Given the description of an element on the screen output the (x, y) to click on. 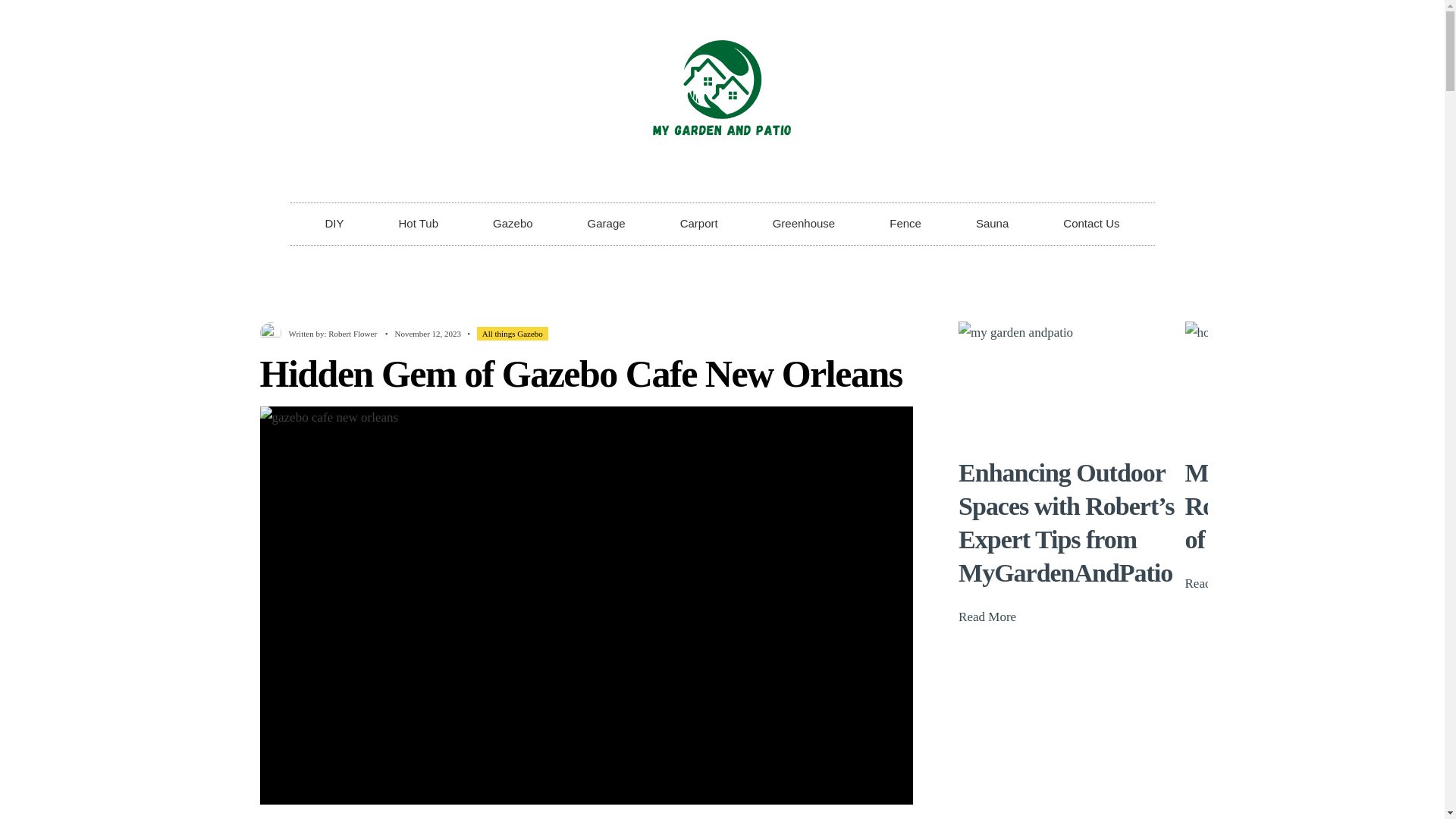
Sauna (992, 223)
Mygardenandpatio Robert: The Secrets of a Lush Backyard (1287, 506)
Carport (698, 223)
All things Gazebo (512, 333)
Contact Us (1091, 223)
Read More (987, 616)
Fence (905, 223)
DIY (334, 223)
Posts by Robert Flower (353, 334)
Gazebo (512, 223)
